Given the description of an element on the screen output the (x, y) to click on. 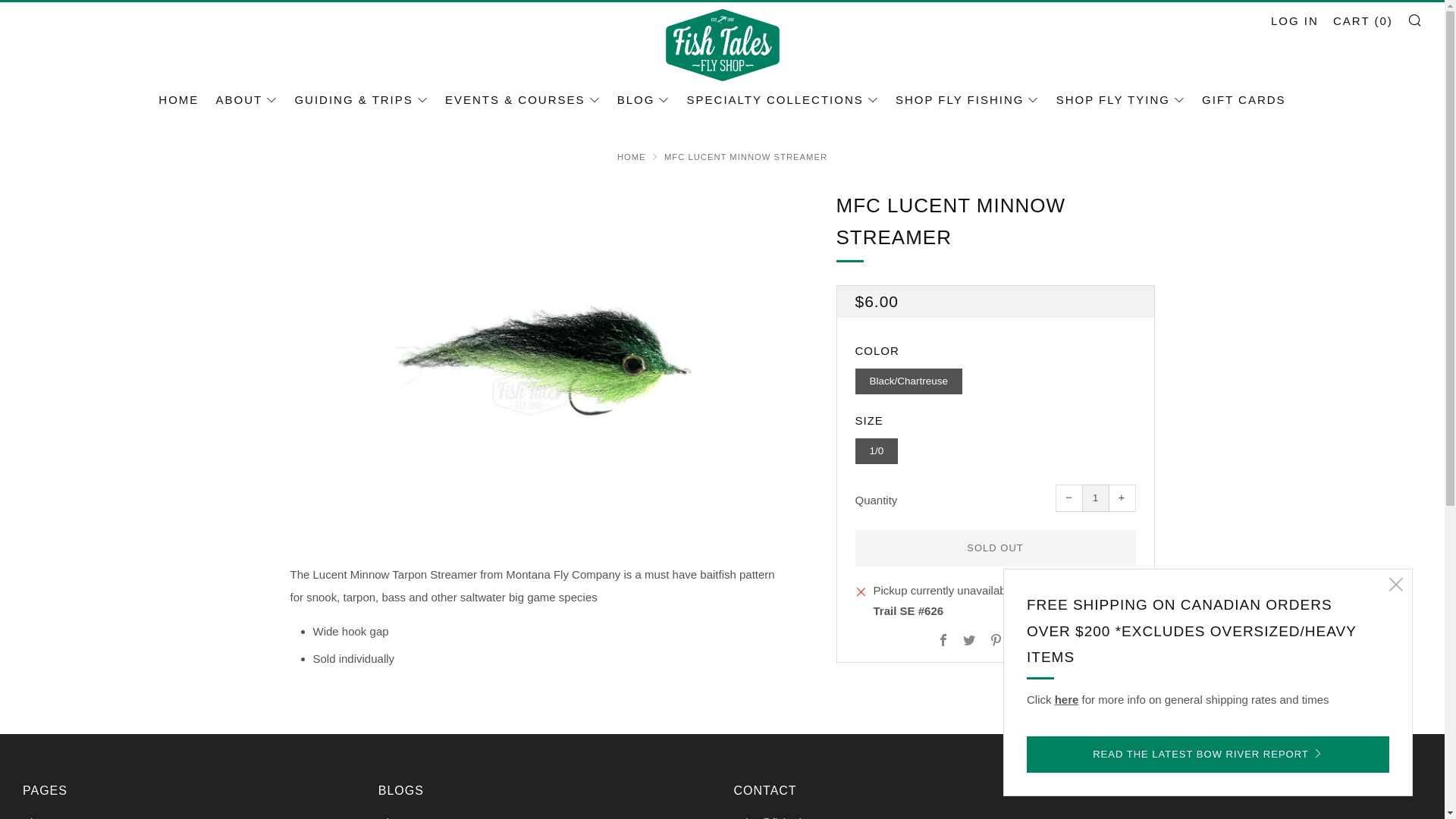
Home (631, 156)
1 (1094, 497)
